Given the description of an element on the screen output the (x, y) to click on. 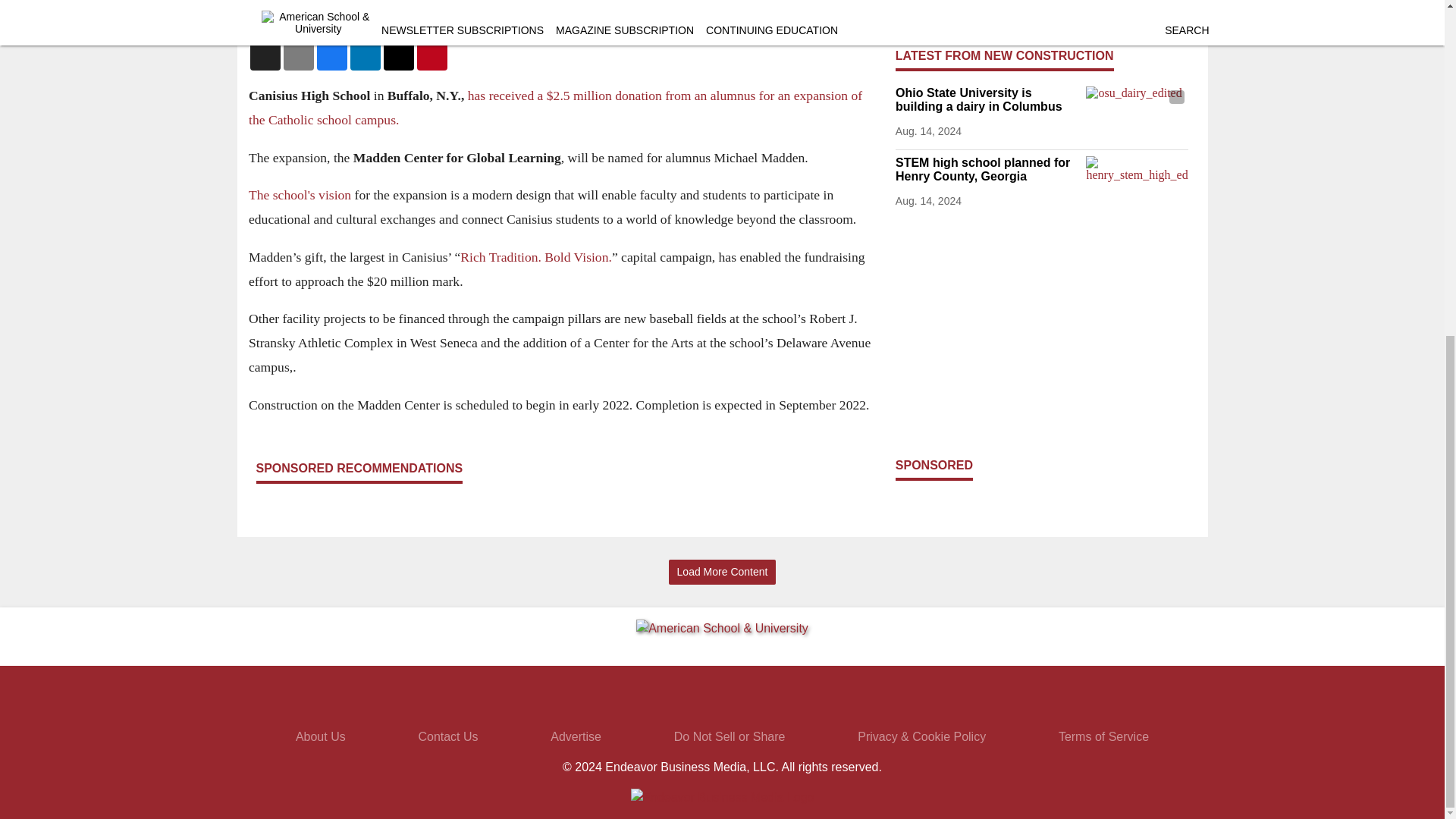
Rich Tradition. Bold Vision. (535, 256)
Ohio State University is building a dairy in Columbus (986, 99)
About Us (320, 736)
The school's vision (299, 194)
STEM high school planned for Henry County, Georgia (986, 169)
Do Not Sell or Share (730, 736)
Advertise (575, 736)
has (477, 95)
Terms of Service (1103, 736)
Contact Us (447, 736)
